Given the description of an element on the screen output the (x, y) to click on. 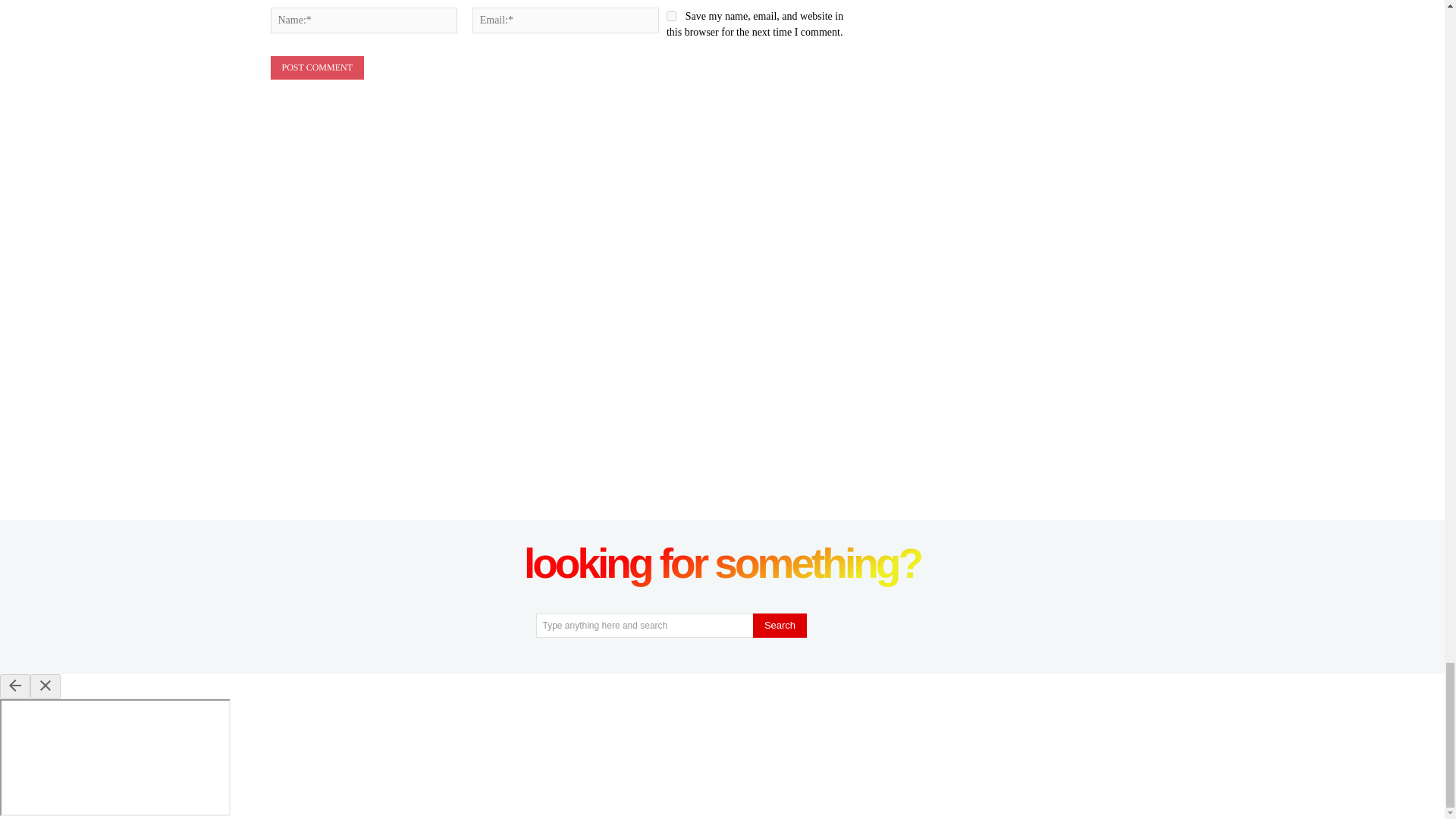
yes (671, 16)
Post Comment (315, 67)
